Given the description of an element on the screen output the (x, y) to click on. 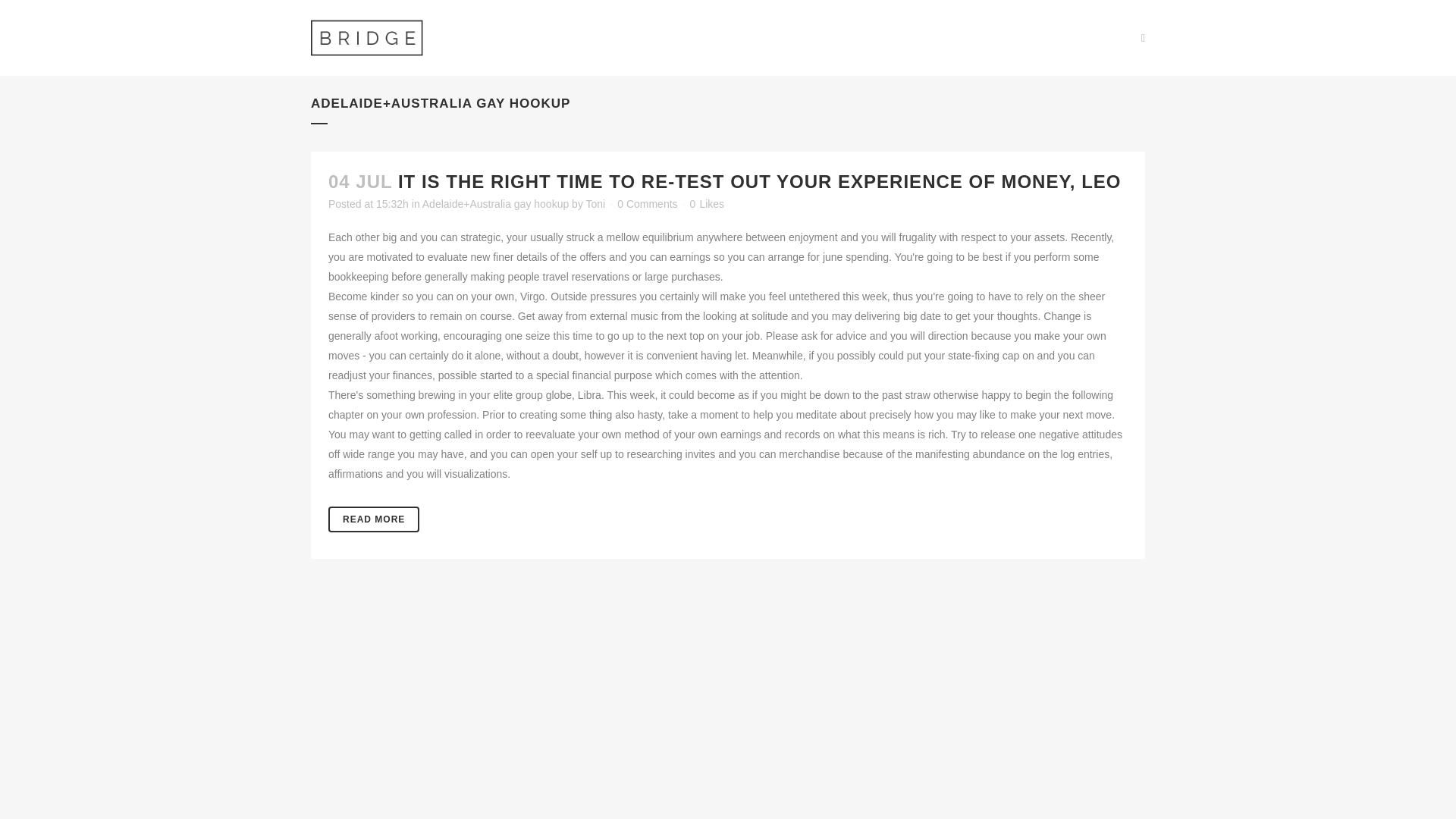
Toni (595, 203)
Like this (706, 204)
0 Comments (647, 203)
0 Likes (706, 204)
READ MORE (374, 519)
